Given the description of an element on the screen output the (x, y) to click on. 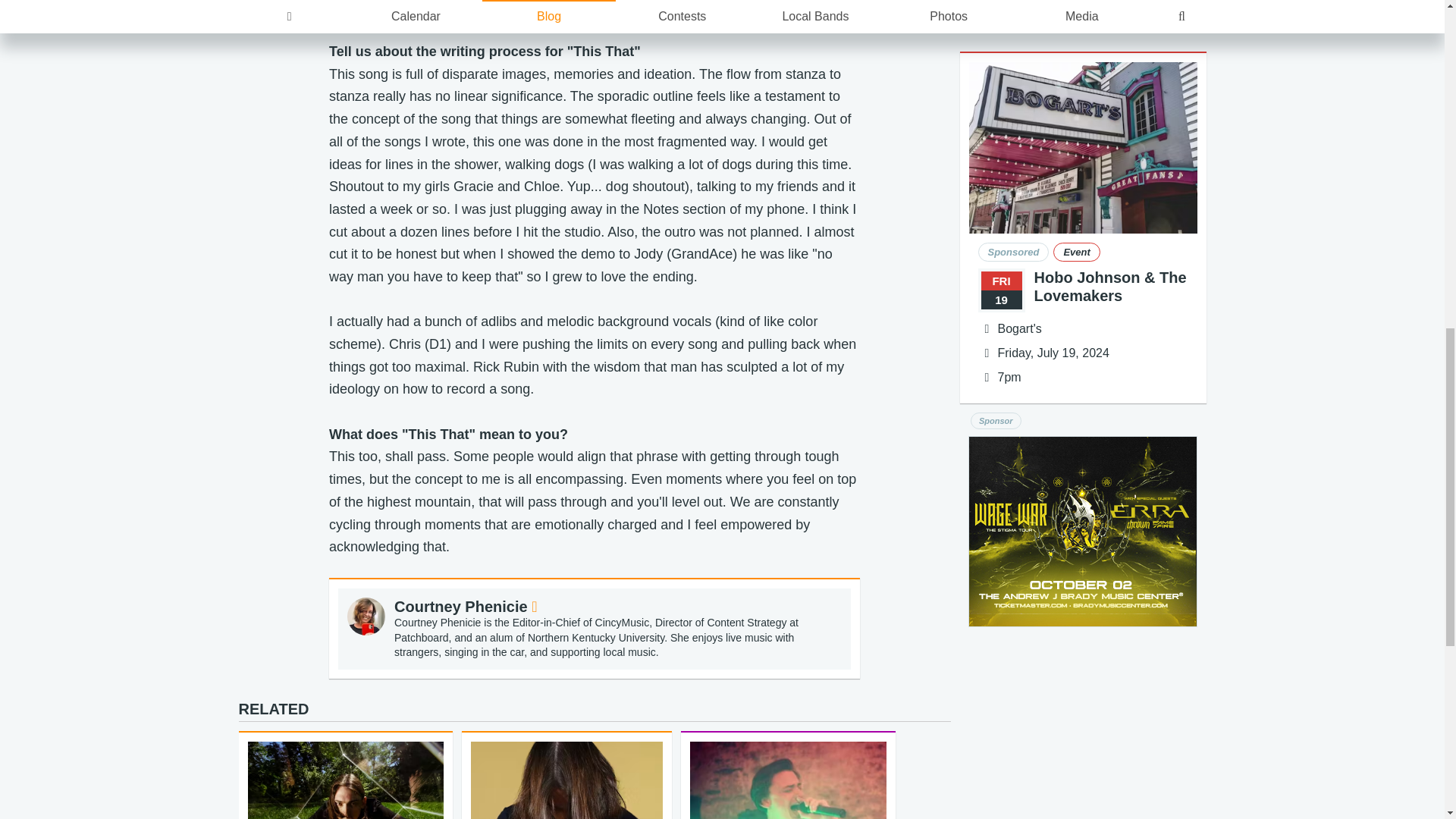
Courtney Phenicie  (465, 606)
